Given the description of an element on the screen output the (x, y) to click on. 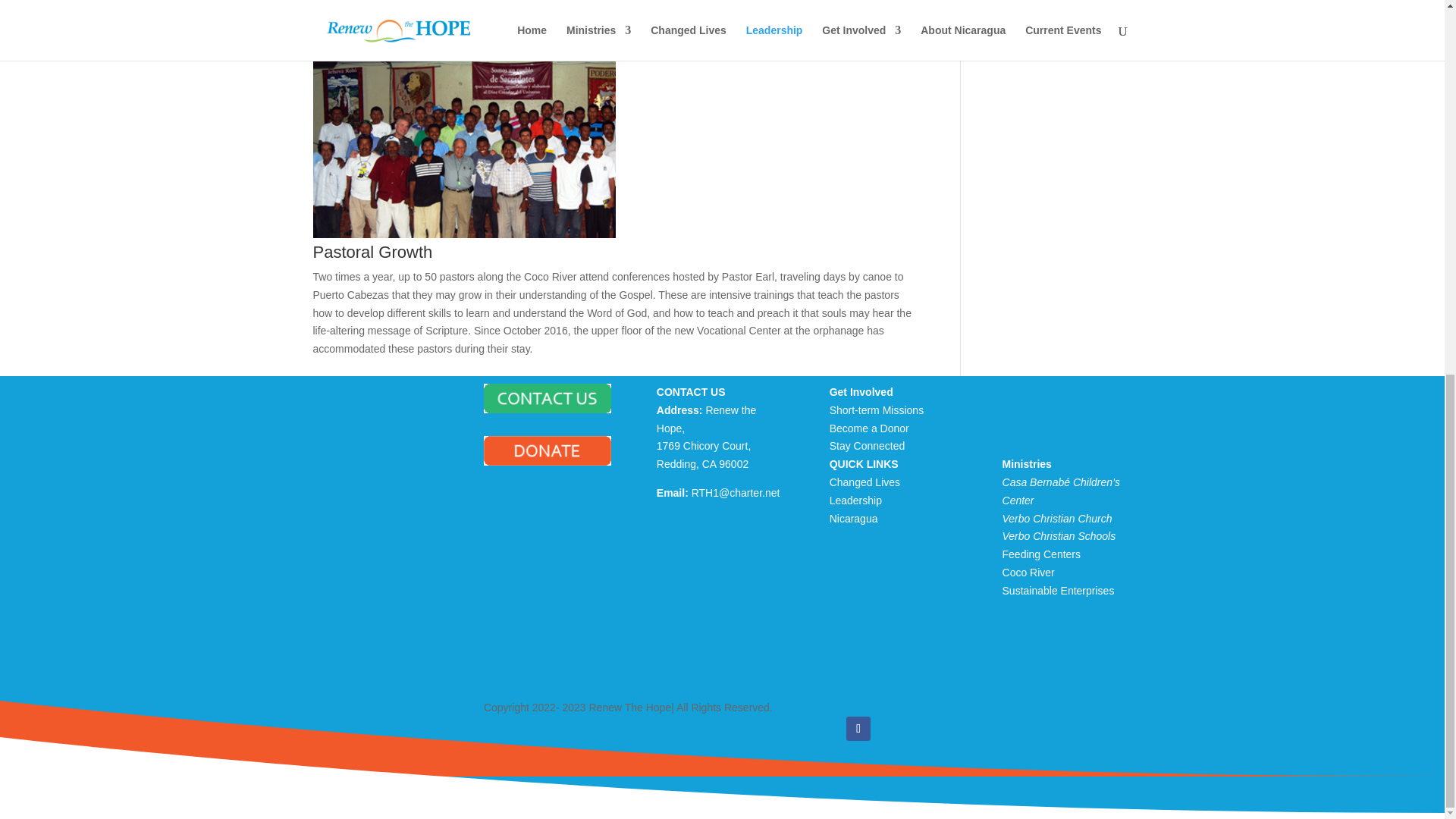
Leadership (855, 500)
Coco River (1028, 572)
Search (458, 390)
Become a Donor (868, 428)
Food Distribution Update (393, 458)
Entries feed (362, 711)
Feeding Centers (1042, 553)
Log in (349, 688)
Follow on Facebook (857, 728)
Verbo Christian Church (1057, 518)
